Given the description of an element on the screen output the (x, y) to click on. 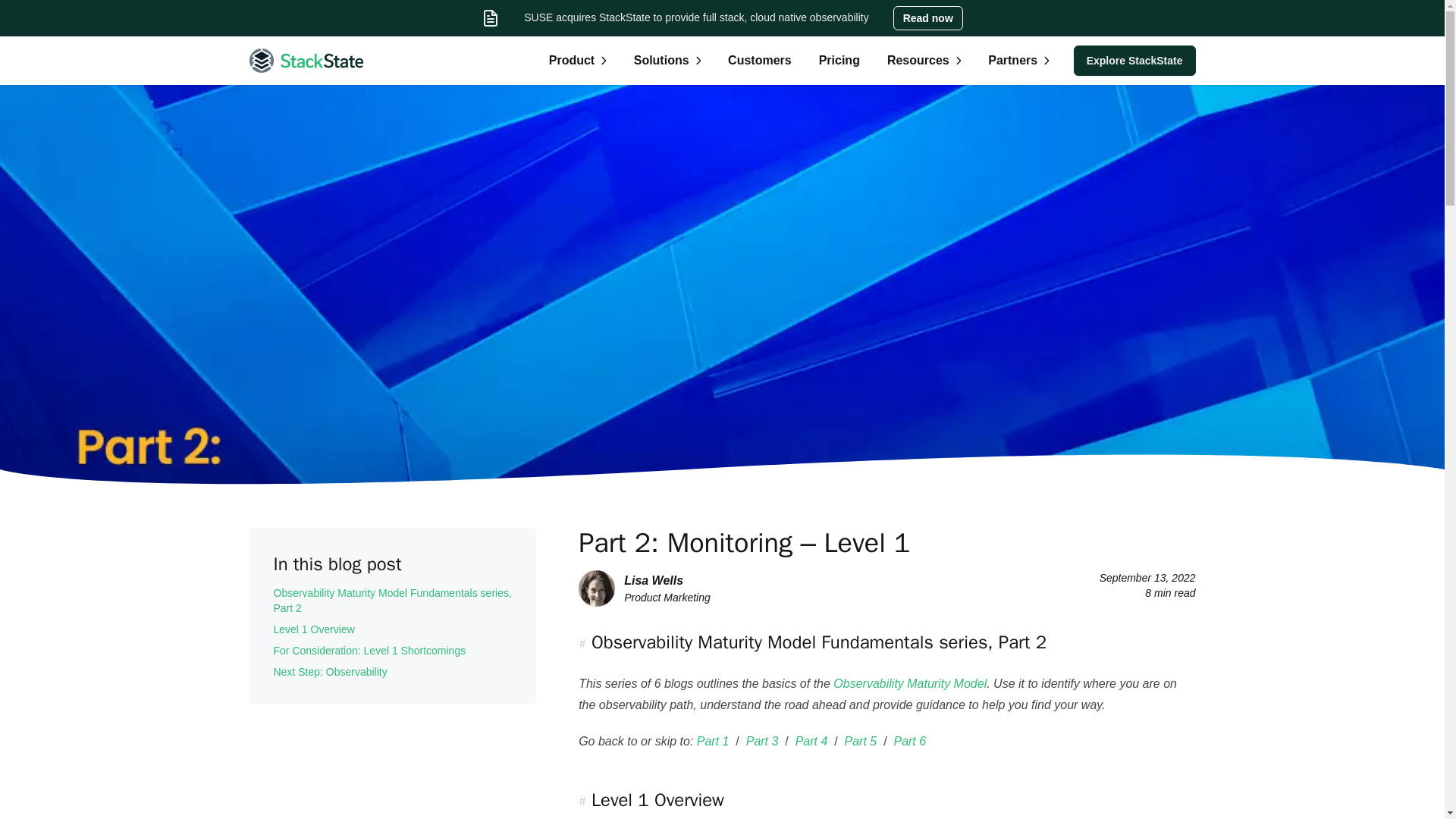
Customers (759, 60)
Read now (927, 17)
Pricing (839, 60)
